Given the description of an element on the screen output the (x, y) to click on. 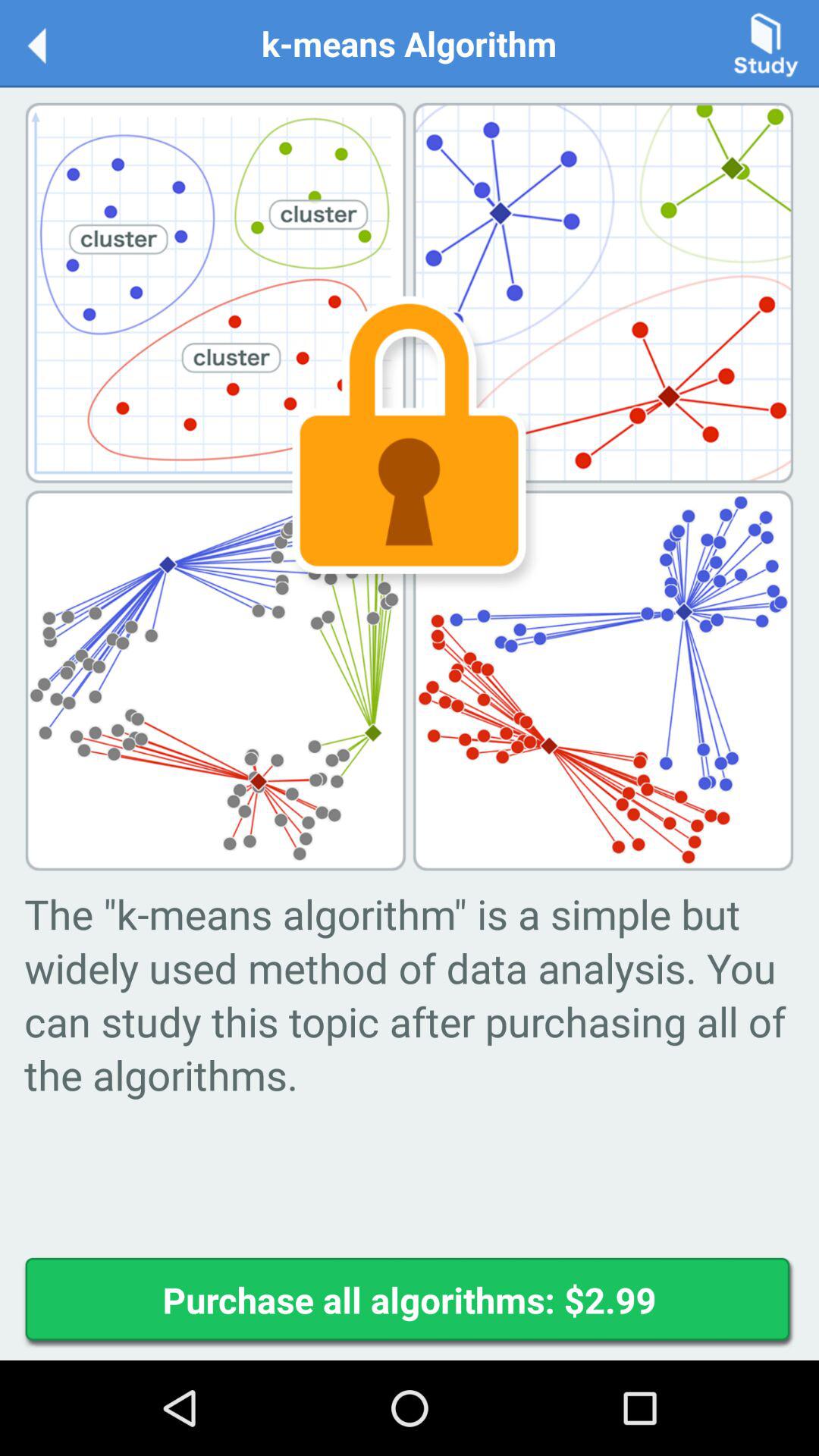
go back button (52, 42)
